Given the description of an element on the screen output the (x, y) to click on. 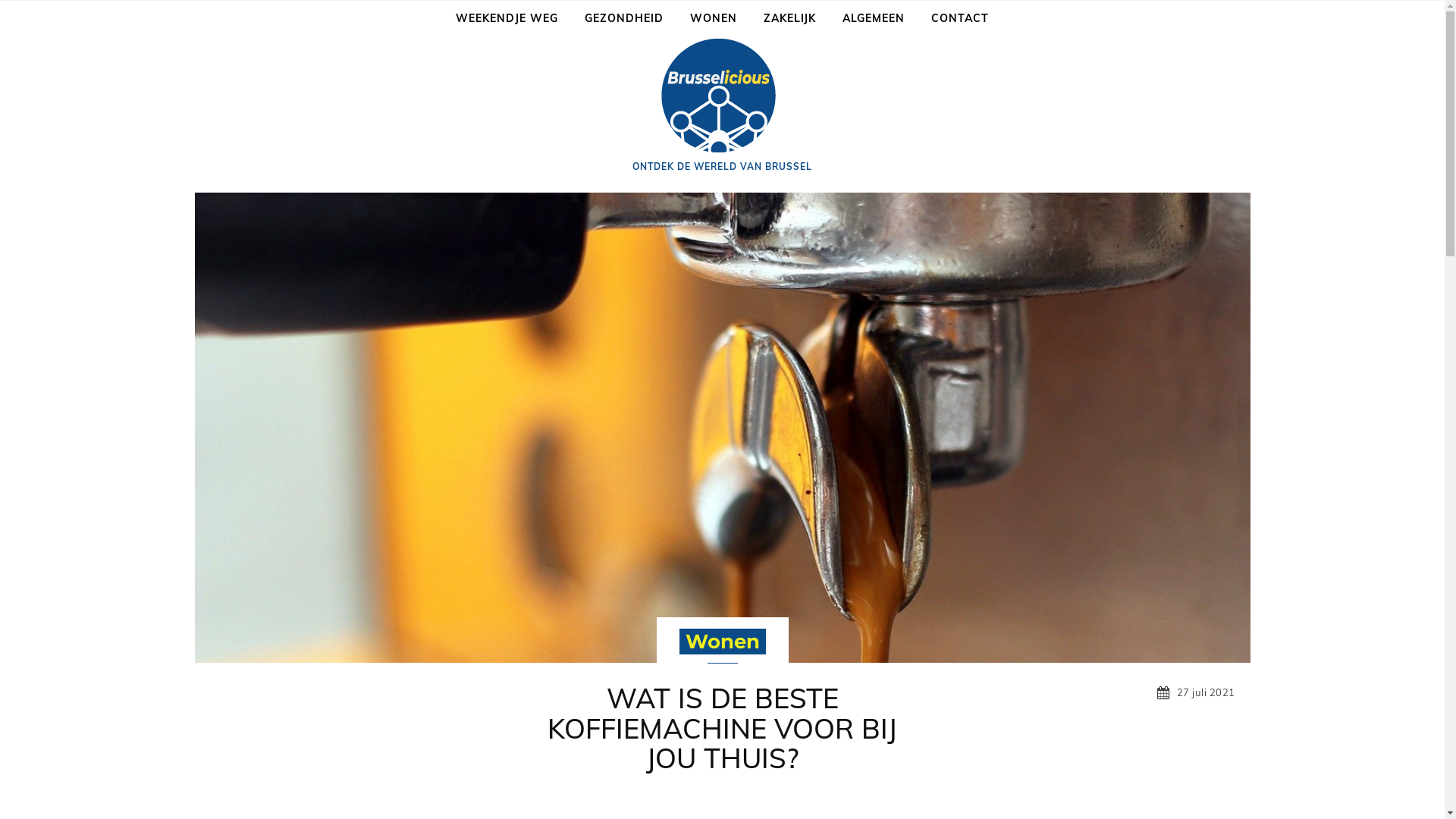
WEEKENDJE WEG Element type: text (506, 18)
ALGEMEEN Element type: text (873, 18)
GEZONDHEID Element type: text (624, 18)
Wonen Element type: text (722, 641)
ZAKELIJK Element type: text (789, 18)
CONTACT Element type: text (959, 18)
WONEN Element type: text (713, 18)
